Given the description of an element on the screen output the (x, y) to click on. 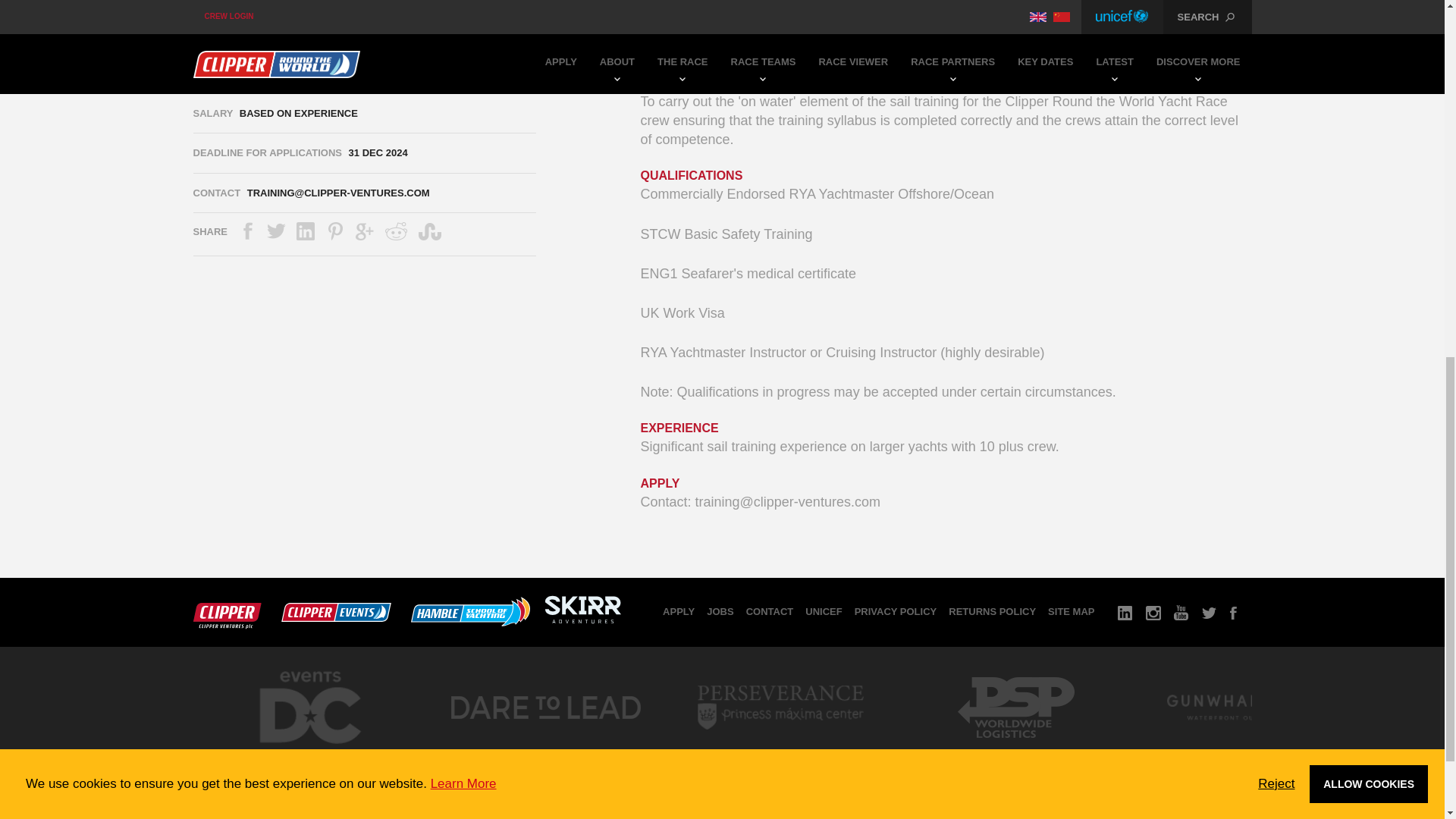
Events DC (309, 757)
Share on Pinterest (335, 230)
Perseverance (780, 751)
Share on LinkedIn (306, 230)
Share on Twitter (275, 230)
Dare To Lead (544, 751)
PSP Logistics (1014, 751)
Share on Facebook (247, 230)
Share on Reddit (396, 230)
Gunwharf Quays (1250, 751)
Share on StumbleUpon (430, 230)
